Given the description of an element on the screen output the (x, y) to click on. 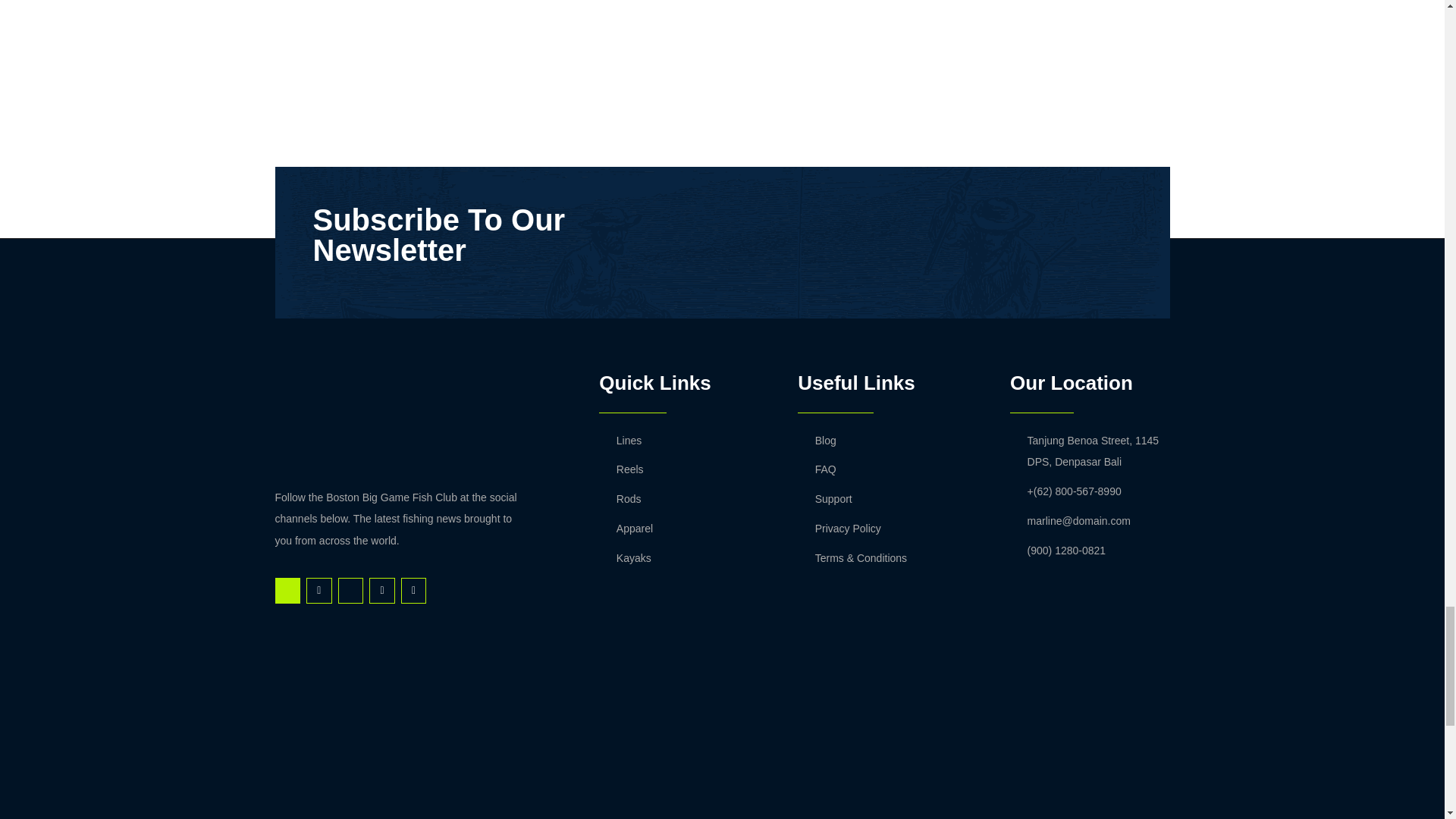
Jki-youtube-v-light (350, 590)
Lines (682, 440)
FAQ (892, 469)
Reels (682, 469)
Blog (892, 440)
Kayaks (682, 558)
Tumblr (381, 590)
Wordpress (413, 590)
Support (892, 499)
Rods (682, 499)
